Given the description of an element on the screen output the (x, y) to click on. 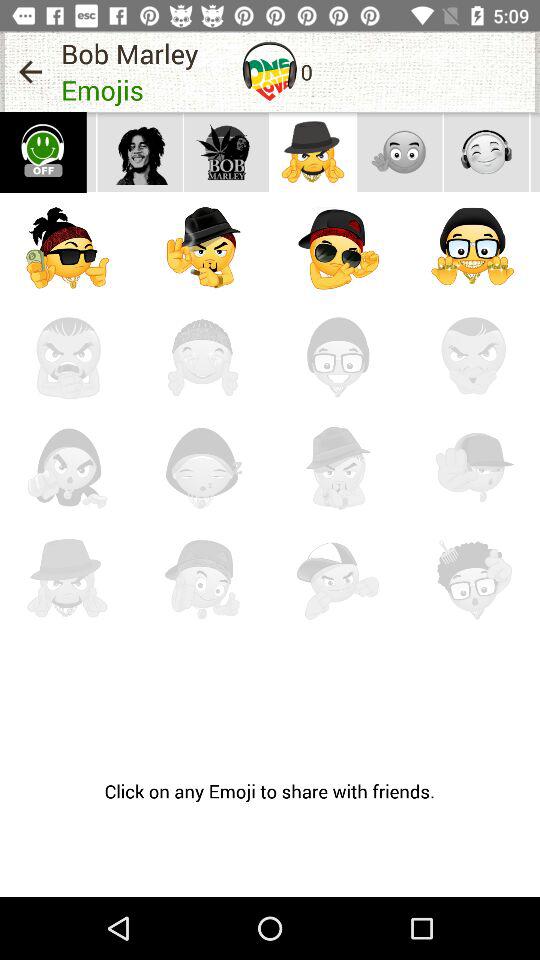
launch the icon to the right of the bob marley icon (269, 71)
